Given the description of an element on the screen output the (x, y) to click on. 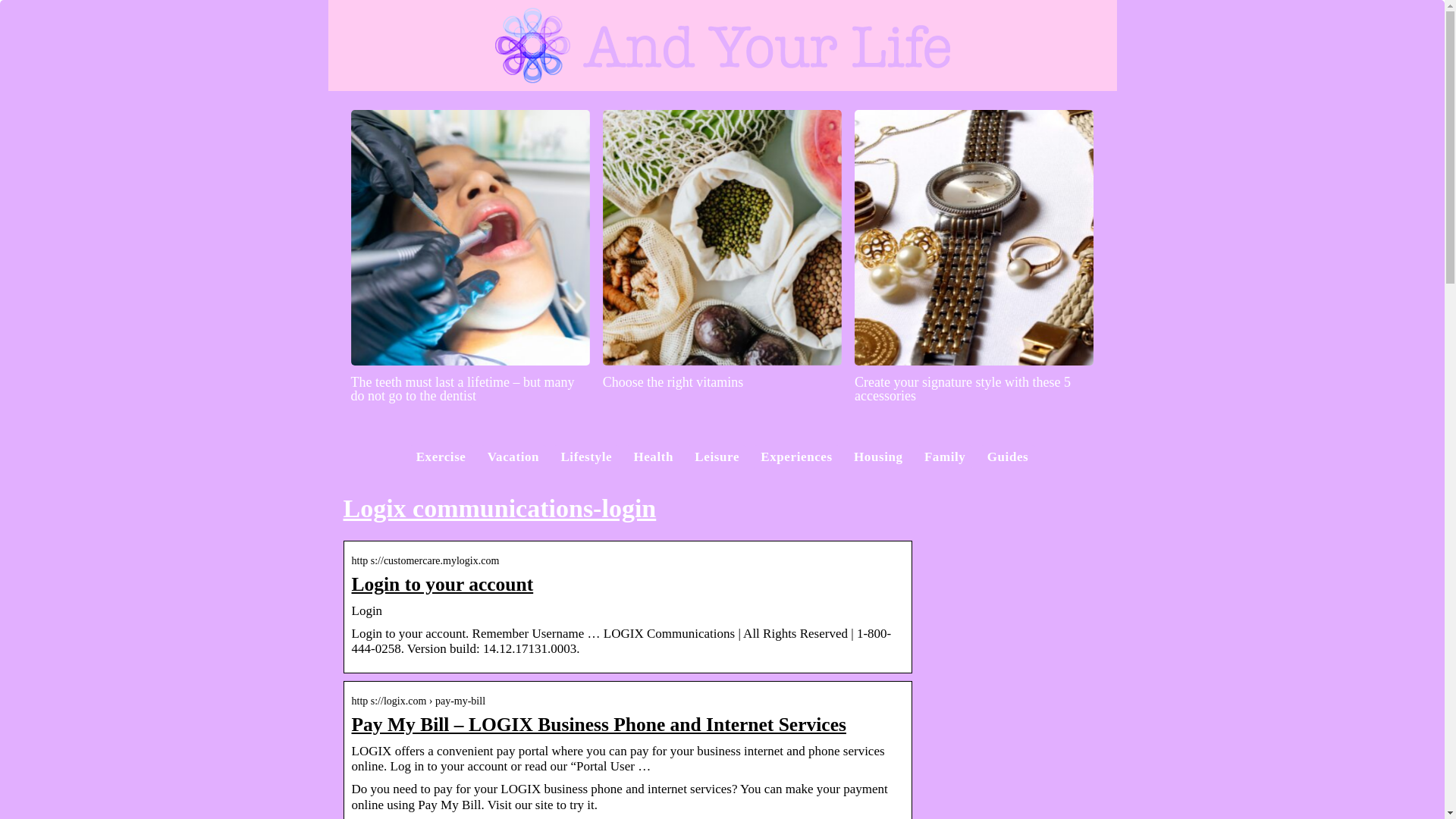
Lifestyle (585, 456)
Health (652, 456)
Experiences (795, 456)
Exercise (440, 456)
Guides (1008, 456)
Vacation (512, 456)
Family (945, 456)
Leisure (716, 456)
Housing (877, 456)
